Given the description of an element on the screen output the (x, y) to click on. 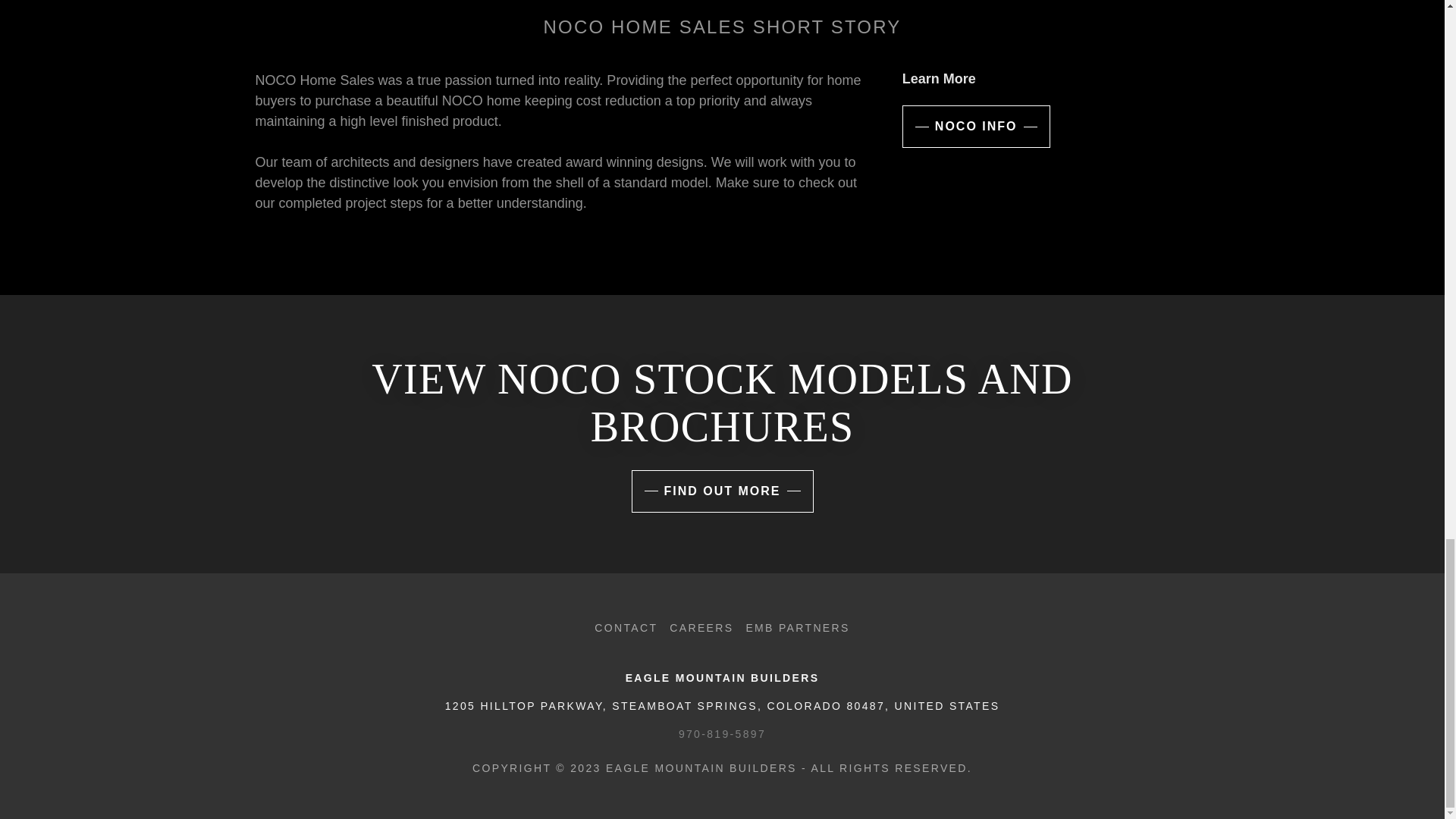
FIND OUT MORE (721, 491)
NOCO INFO (975, 126)
CAREERS (701, 627)
EMB PARTNERS (797, 627)
CONTACT (625, 627)
